Given the description of an element on the screen output the (x, y) to click on. 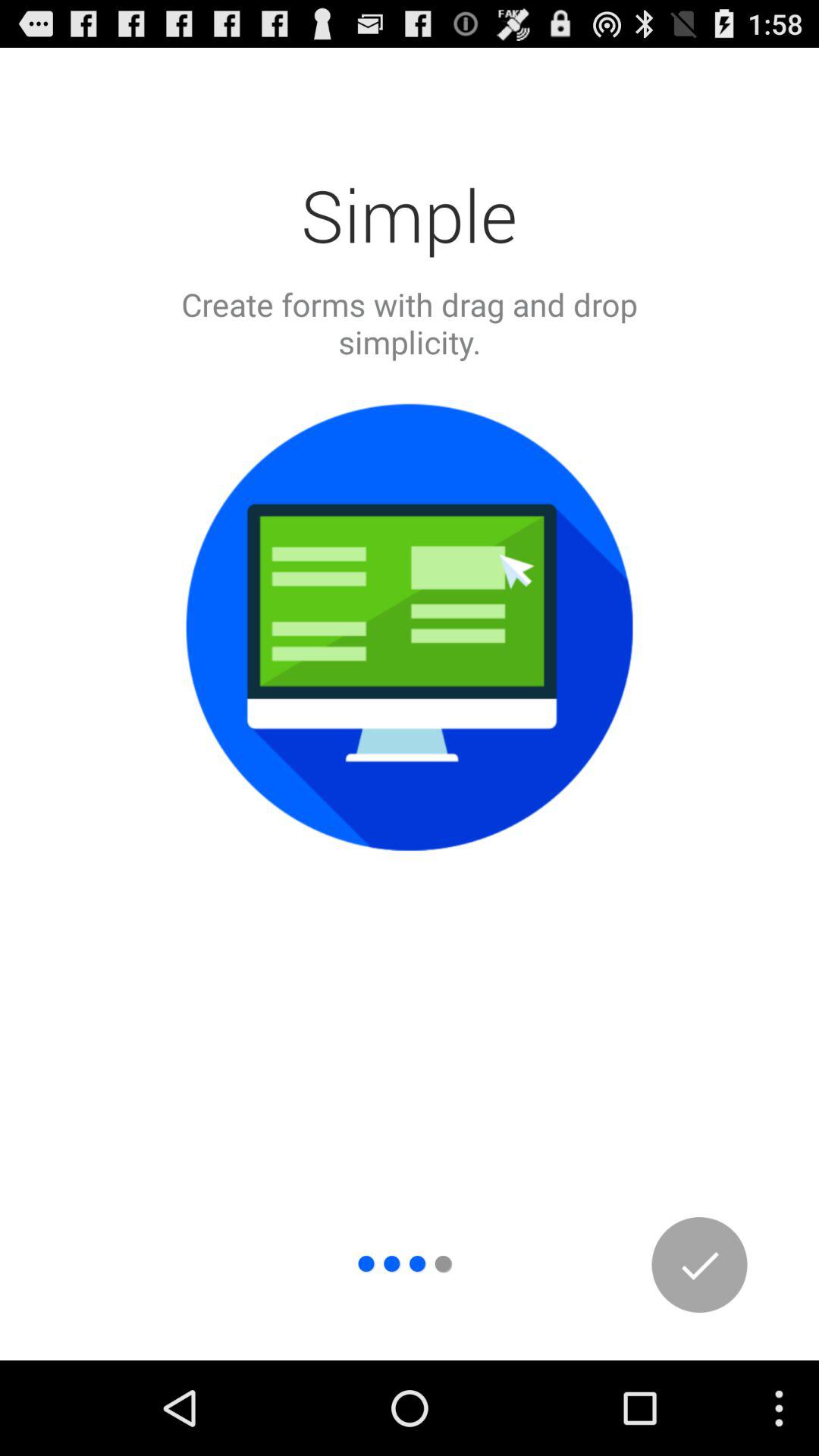
click item at the bottom right corner (699, 1264)
